Given the description of an element on the screen output the (x, y) to click on. 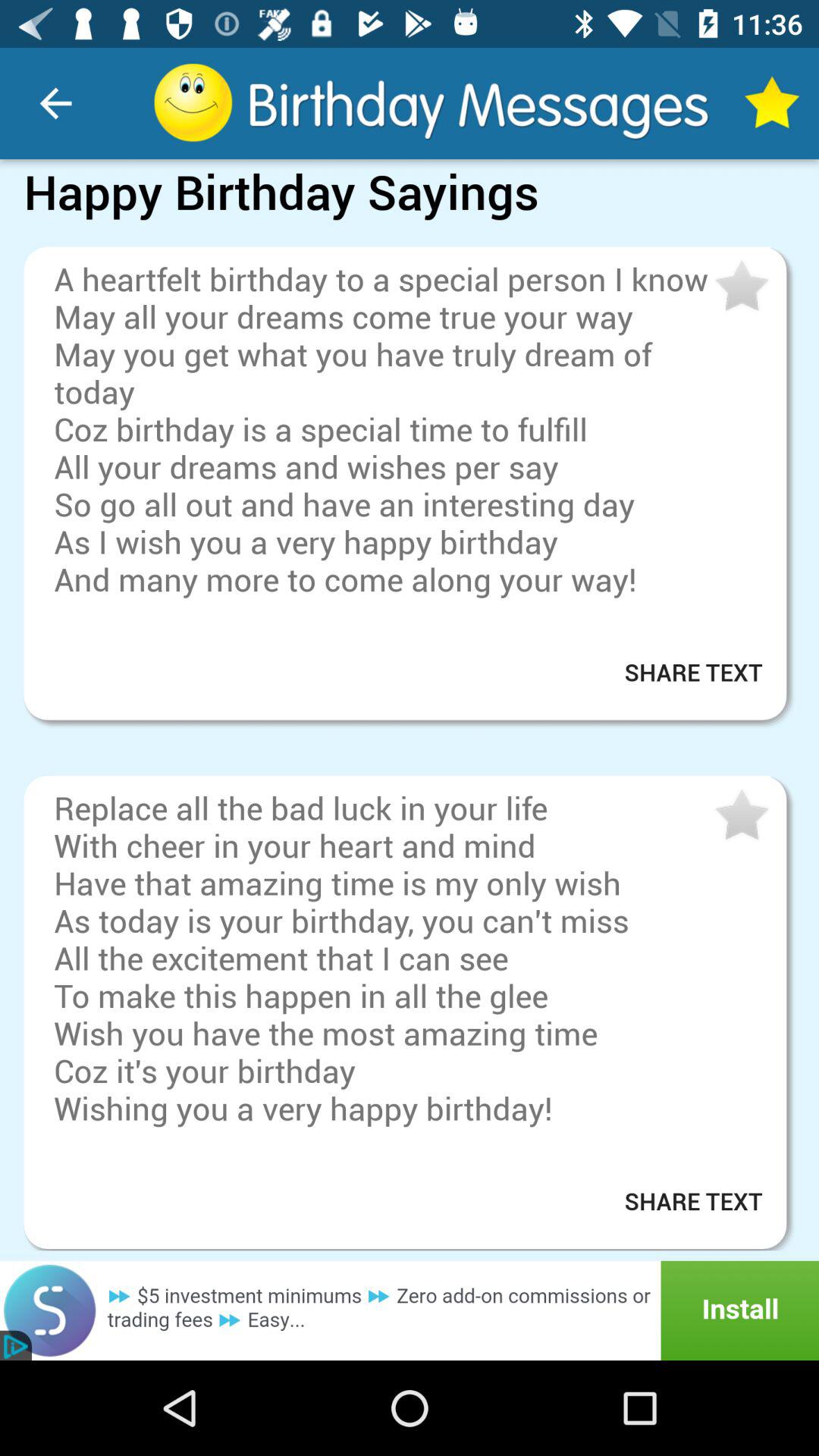
favorite this one (740, 815)
